Given the description of an element on the screen output the (x, y) to click on. 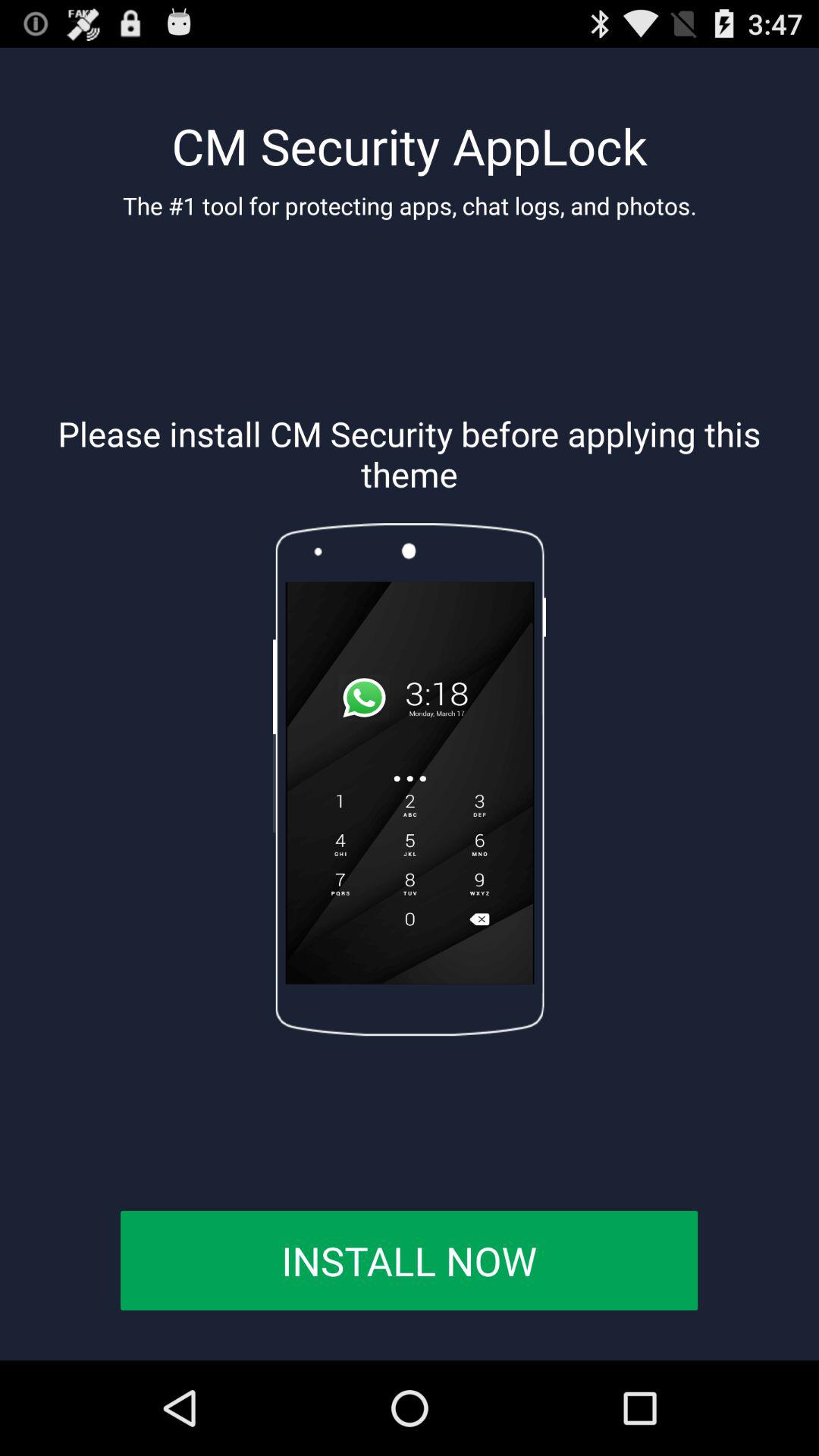
swipe to install now (408, 1260)
